Given the description of an element on the screen output the (x, y) to click on. 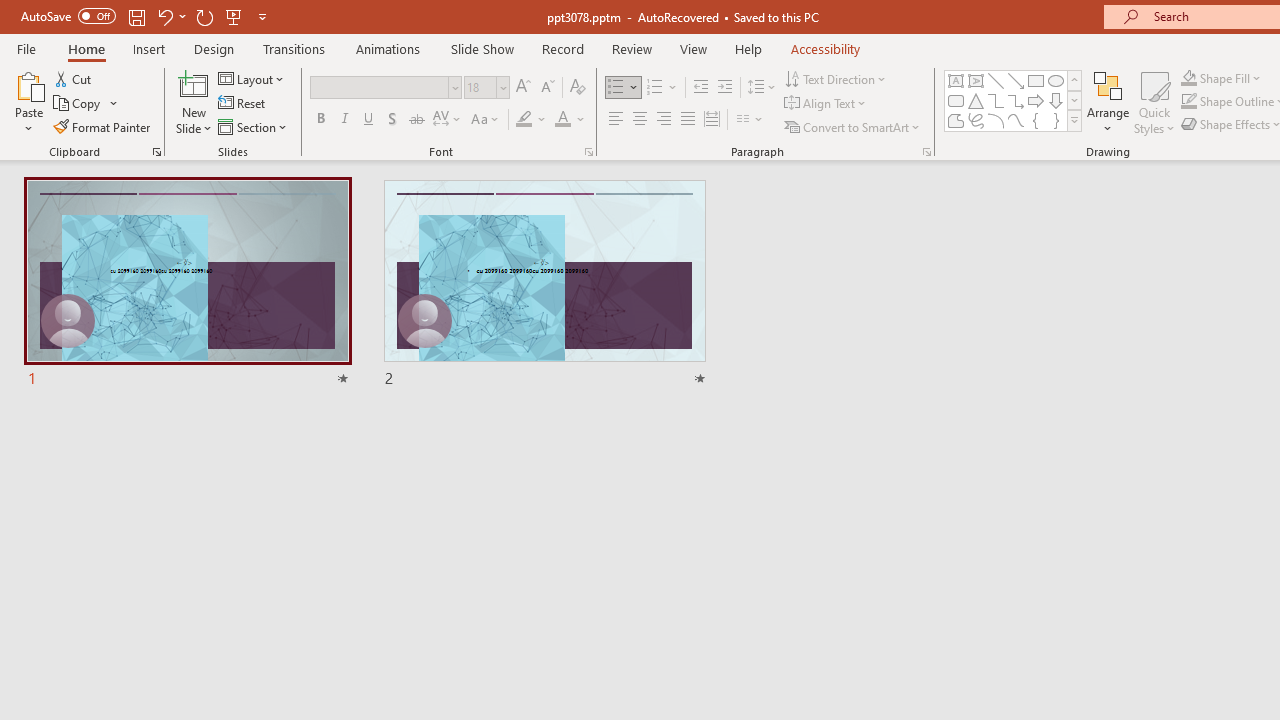
Align Right (663, 119)
Rectangle (1035, 80)
Oval (1055, 80)
Character Spacing (447, 119)
Arc (995, 120)
Vertical Text Box (975, 80)
Strikethrough (416, 119)
Layout (252, 78)
